Given the description of an element on the screen output the (x, y) to click on. 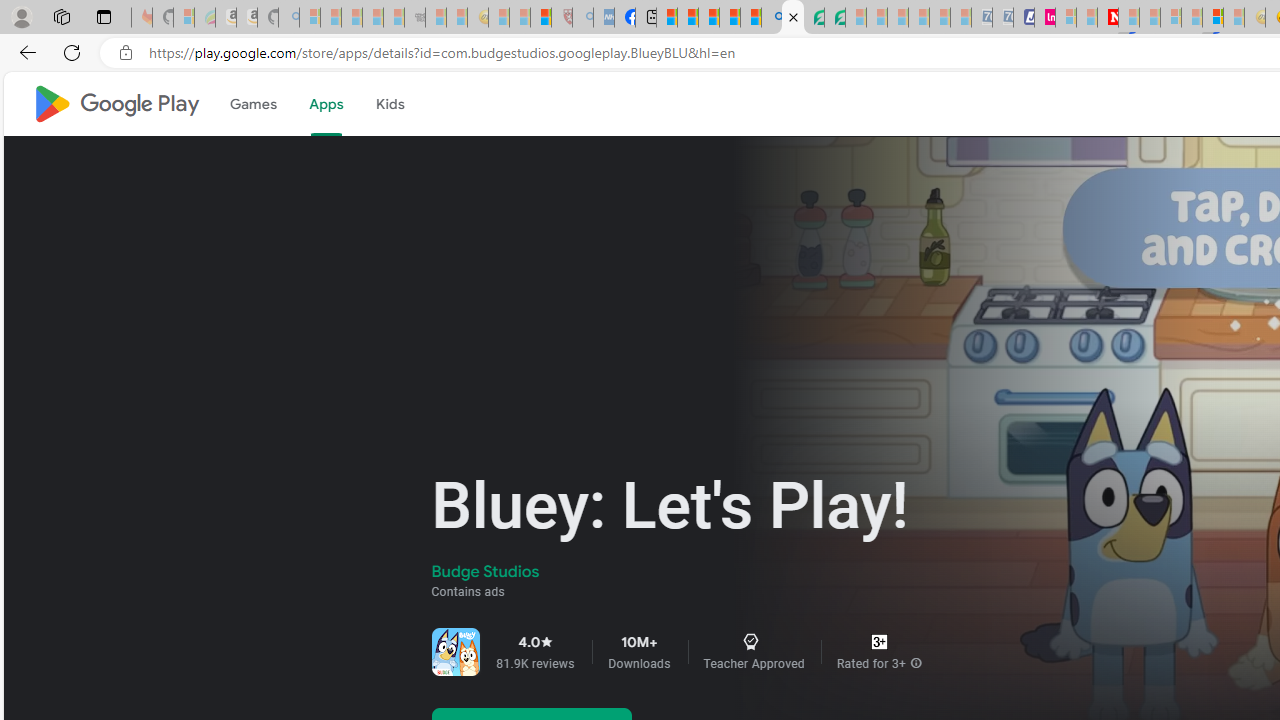
New Report Confirms 2023 Was Record Hot | Watch - Sleeping (394, 17)
MSNBC - MSN (666, 17)
14 Common Myths Debunked By Scientific Facts - Sleeping (1149, 17)
Terms of Use Agreement (813, 17)
Budge Studios (485, 571)
NCL Adult Asthma Inhaler Choice Guideline - Sleeping (603, 17)
